Given the description of an element on the screen output the (x, y) to click on. 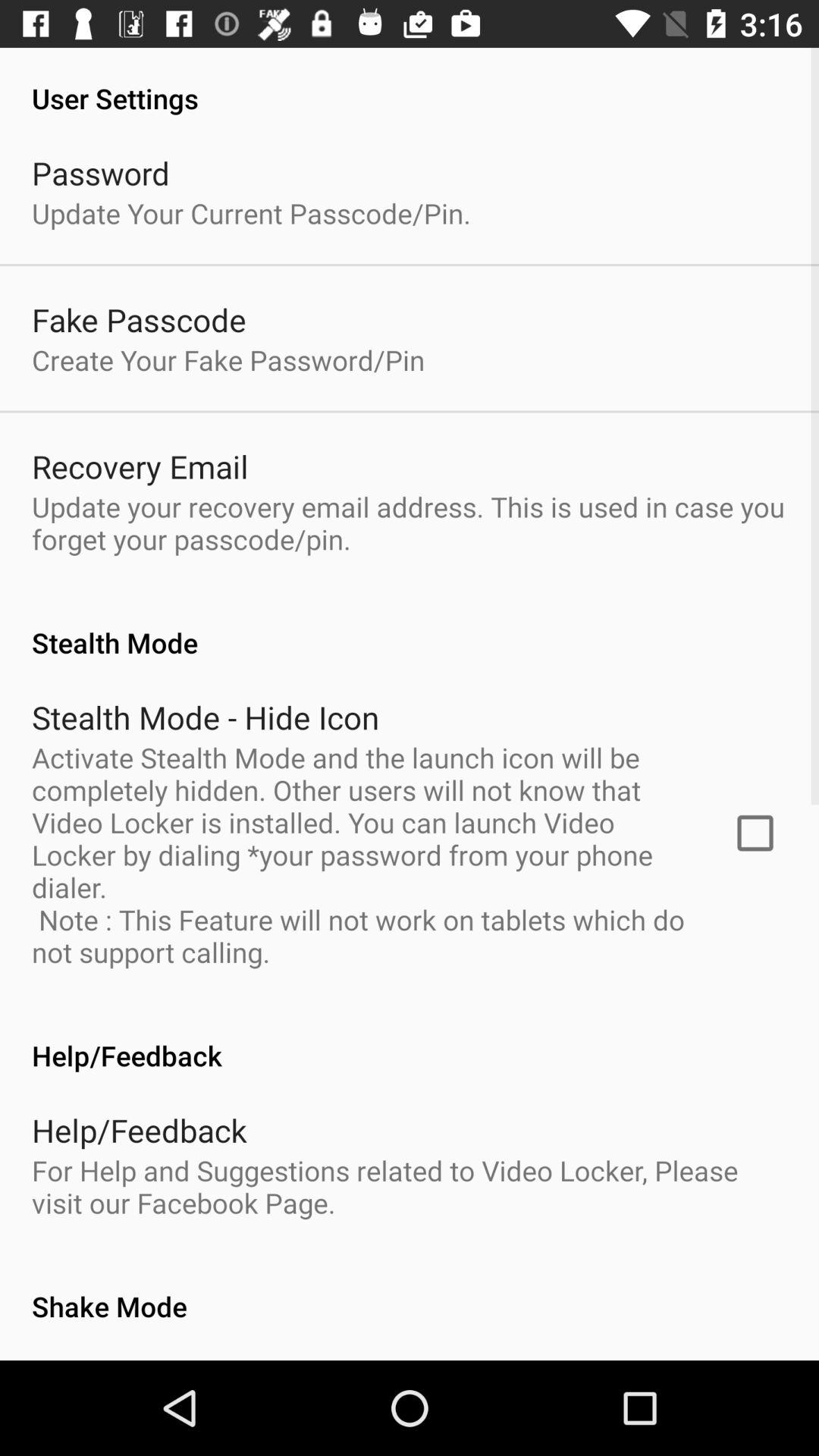
open item below update your current (138, 319)
